Given the description of an element on the screen output the (x, y) to click on. 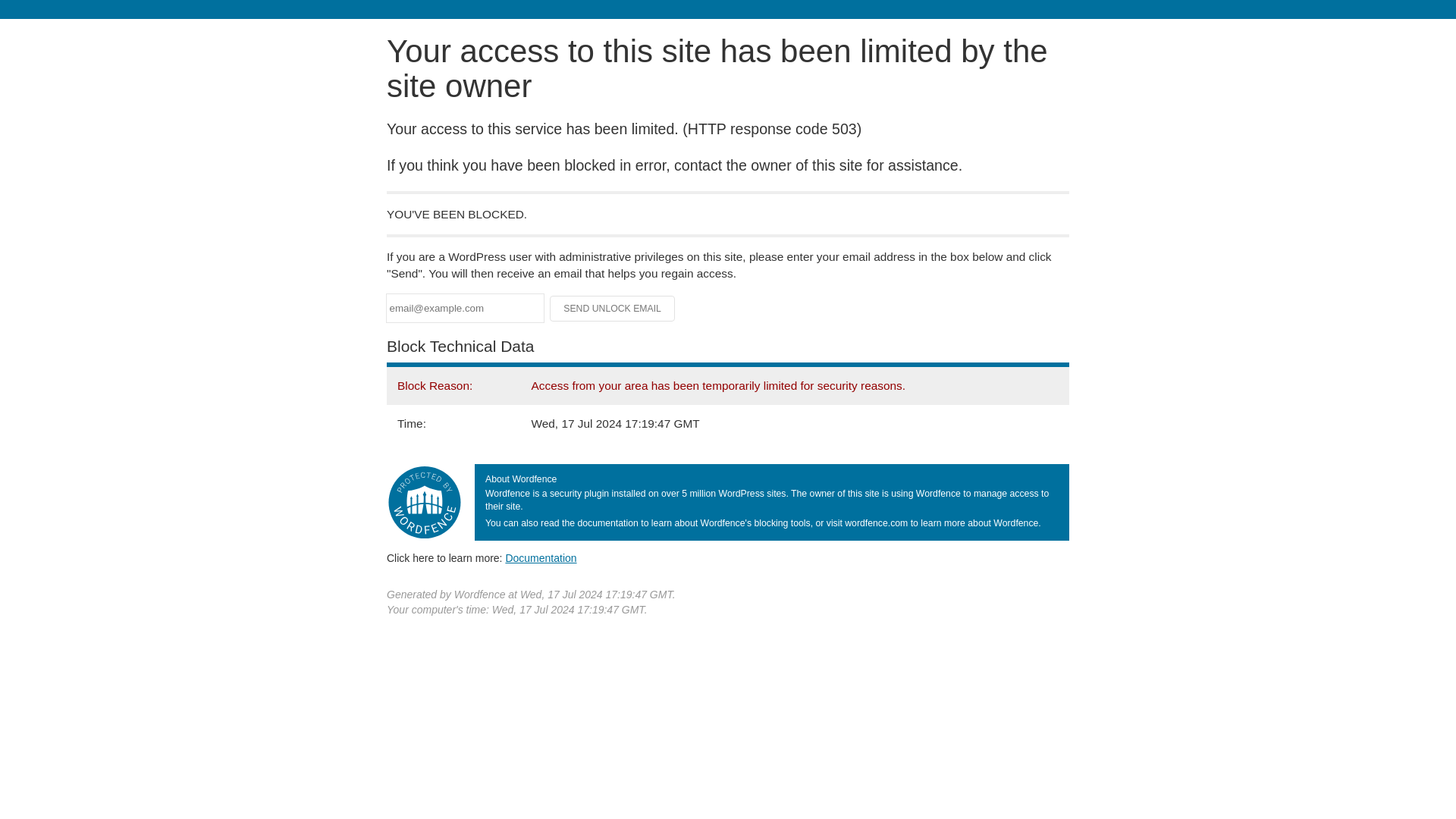
Send Unlock Email (612, 308)
Send Unlock Email (612, 308)
Documentation (540, 558)
